Given the description of an element on the screen output the (x, y) to click on. 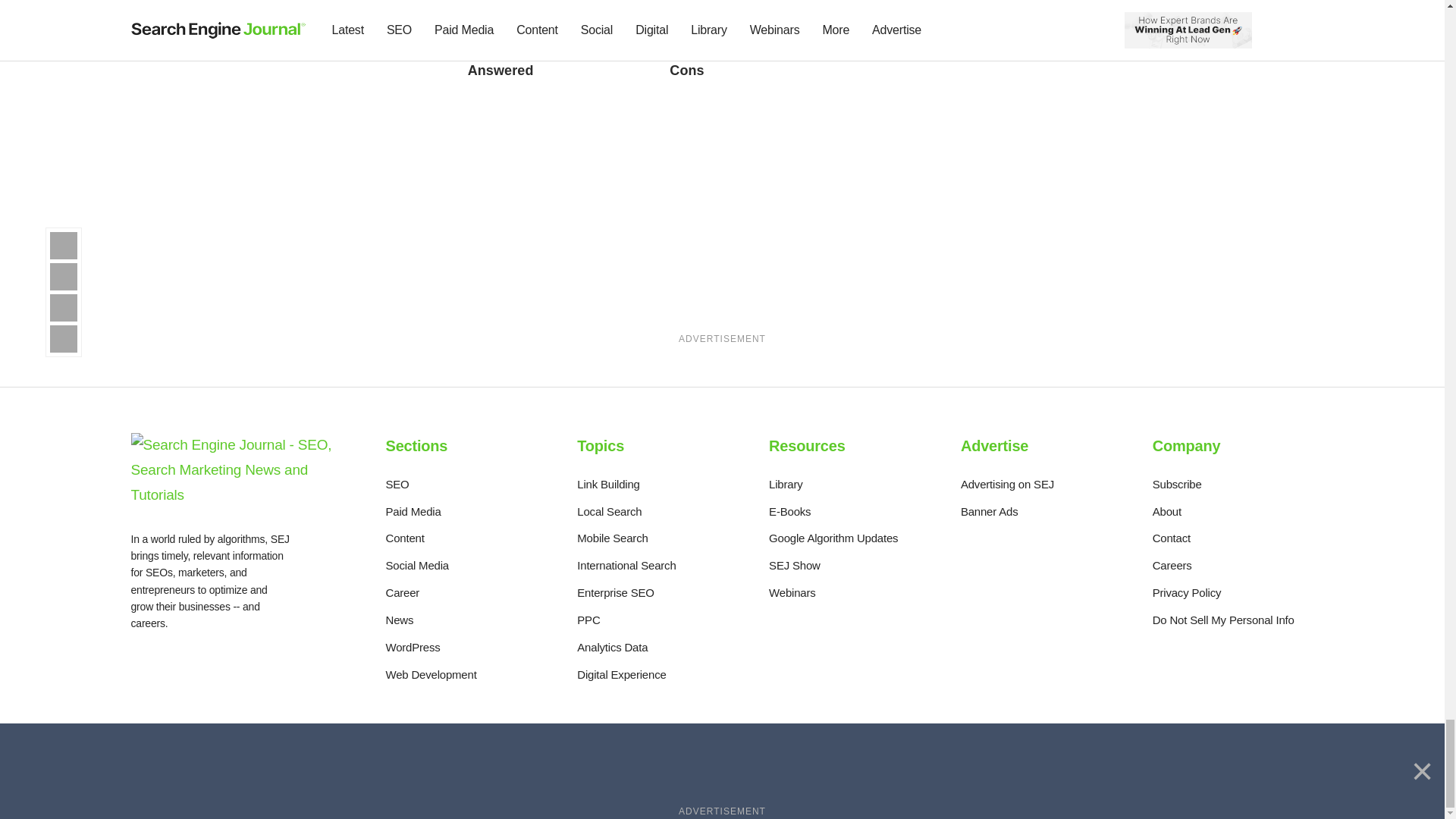
Read the Article (755, 2)
Read the Article (544, 45)
Read the Article (351, 2)
Read the Article (739, 45)
Read the Article (553, 2)
Read the Article (335, 37)
